Given the description of an element on the screen output the (x, y) to click on. 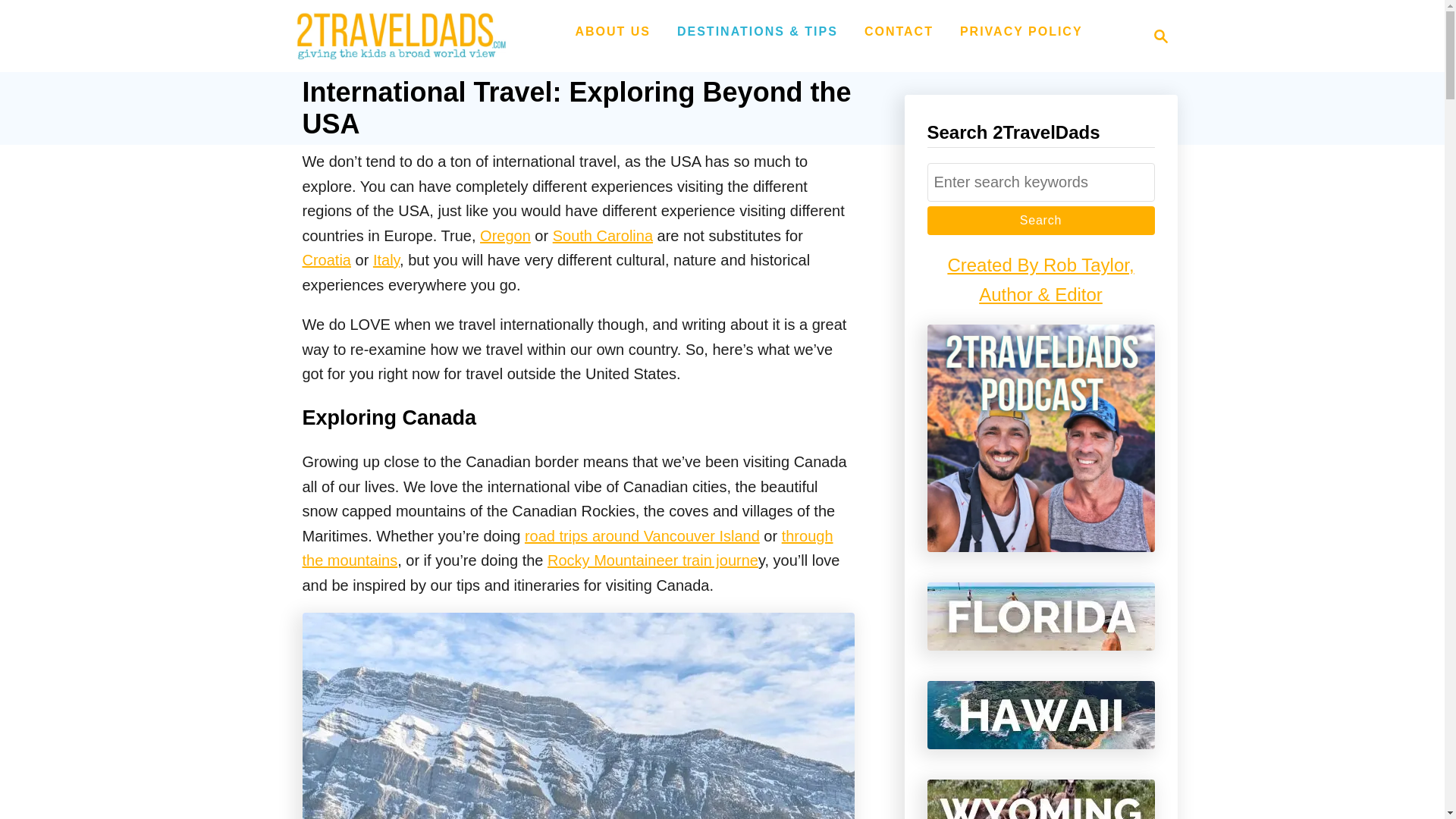
Search (1040, 220)
Search for: (1040, 181)
Skip to Content (1155, 36)
Magnifying Glass (395, 35)
ABOUT US (1160, 36)
Search (612, 31)
